Given the description of an element on the screen output the (x, y) to click on. 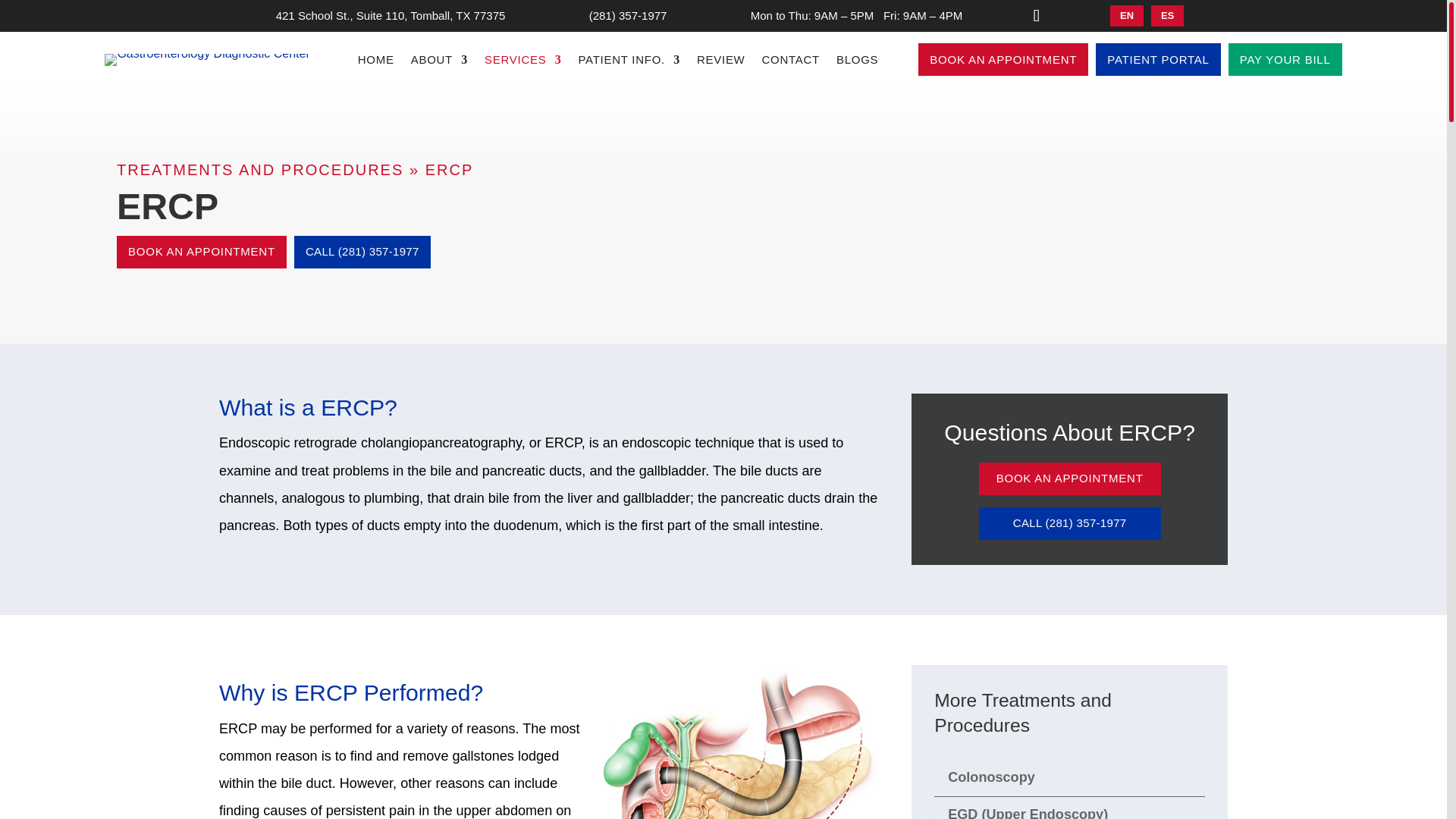
EN (1125, 15)
ES (1167, 15)
BLOGS (856, 62)
SERVICES (522, 62)
REVIEW (721, 62)
CONTACT (789, 62)
TREATMENTS AND PROCEDURES (259, 169)
PATIENT PORTAL (1158, 59)
BOOK AN APPOINTMENT (1002, 59)
PAY YOUR BILL (1285, 59)
